Given the description of an element on the screen output the (x, y) to click on. 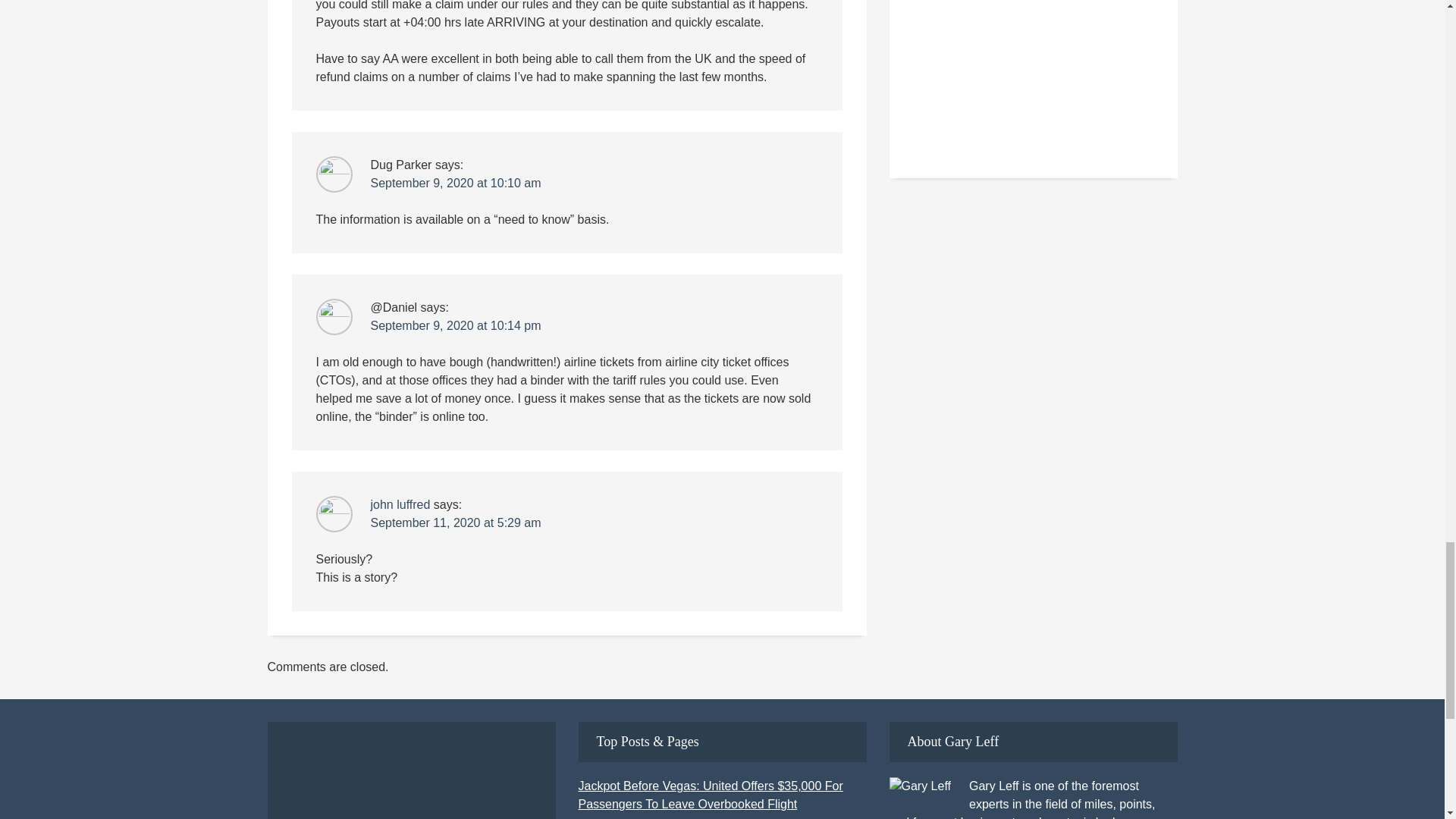
September 9, 2020 at 10:10 am (454, 182)
